Given the description of an element on the screen output the (x, y) to click on. 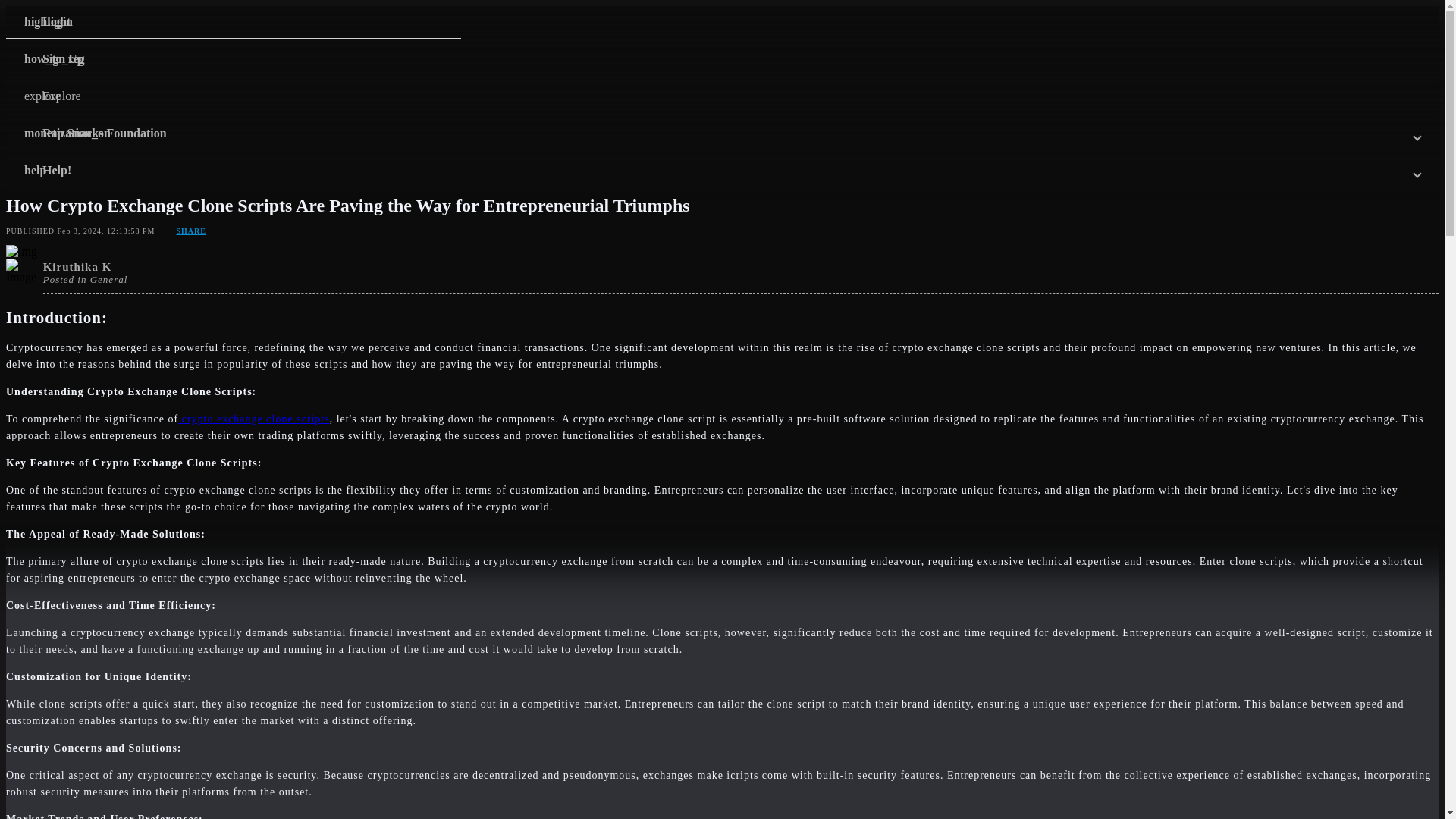
security (375, 214)
explore (79, 214)
Posted in General (85, 278)
crypto exchange clone scripts (253, 419)
